Given the description of an element on the screen output the (x, y) to click on. 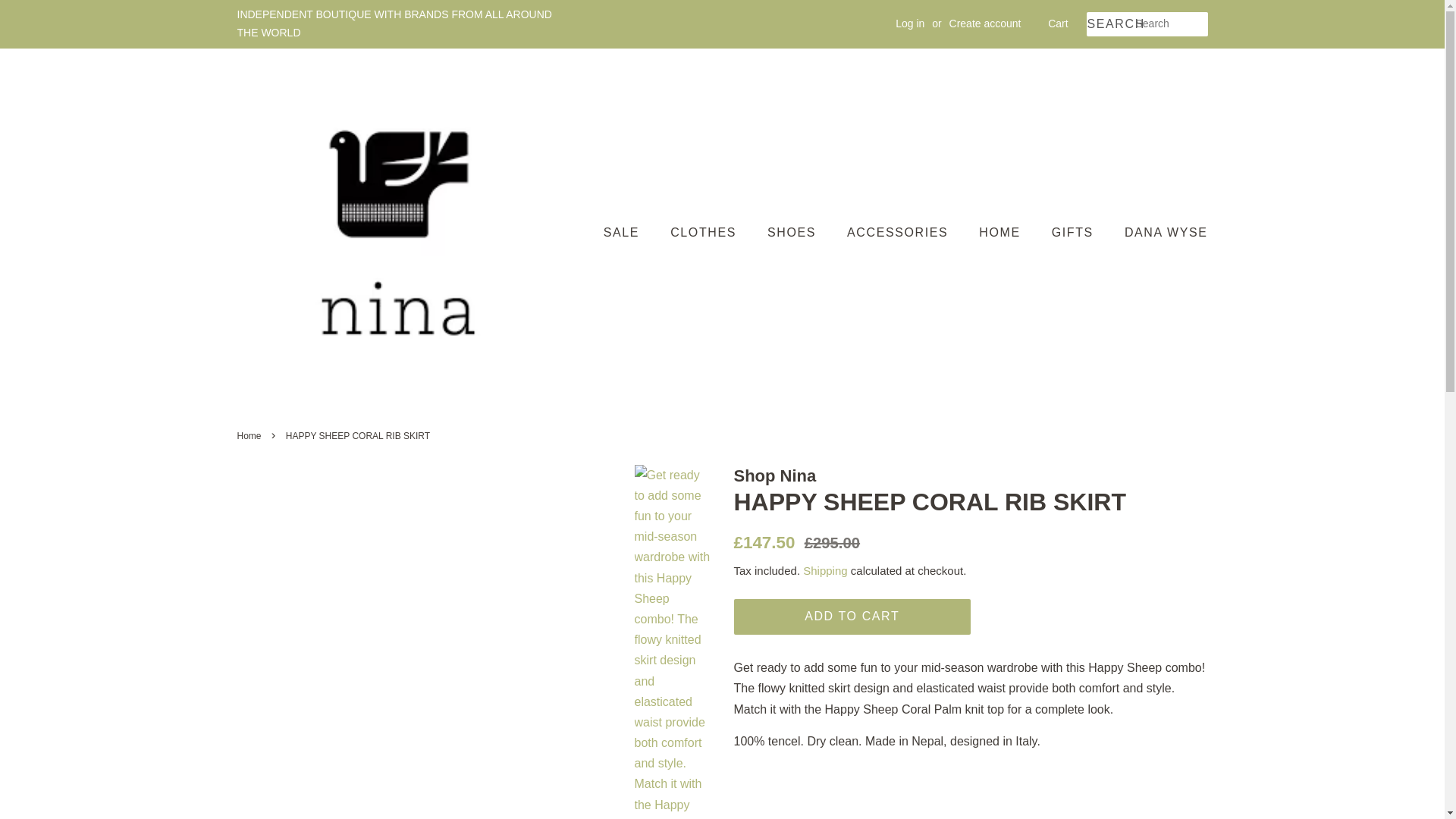
Cart (1057, 24)
Log in (909, 23)
SEARCH (1110, 24)
Back to the frontpage (249, 435)
Create account (985, 23)
